Given the description of an element on the screen output the (x, y) to click on. 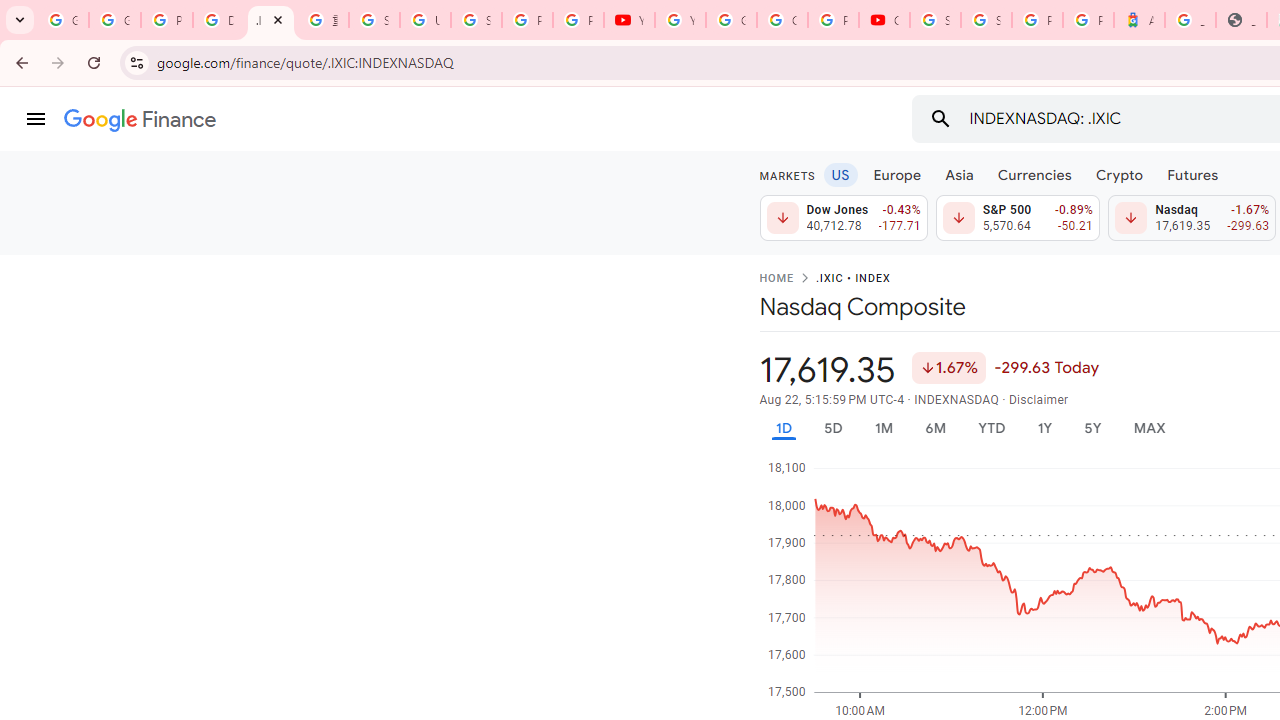
Disclaimer (1038, 399)
MAX (1149, 427)
Europe (897, 174)
1Y (1044, 427)
Atour Hotel - Google hotels (1138, 20)
Sign in - Google Accounts (374, 20)
Sign in - Google Accounts (935, 20)
Main menu (35, 119)
YTD (991, 427)
Crypto (1119, 174)
6M (934, 427)
Create your Google Account (781, 20)
Sign in - Google Accounts (986, 20)
